Given the description of an element on the screen output the (x, y) to click on. 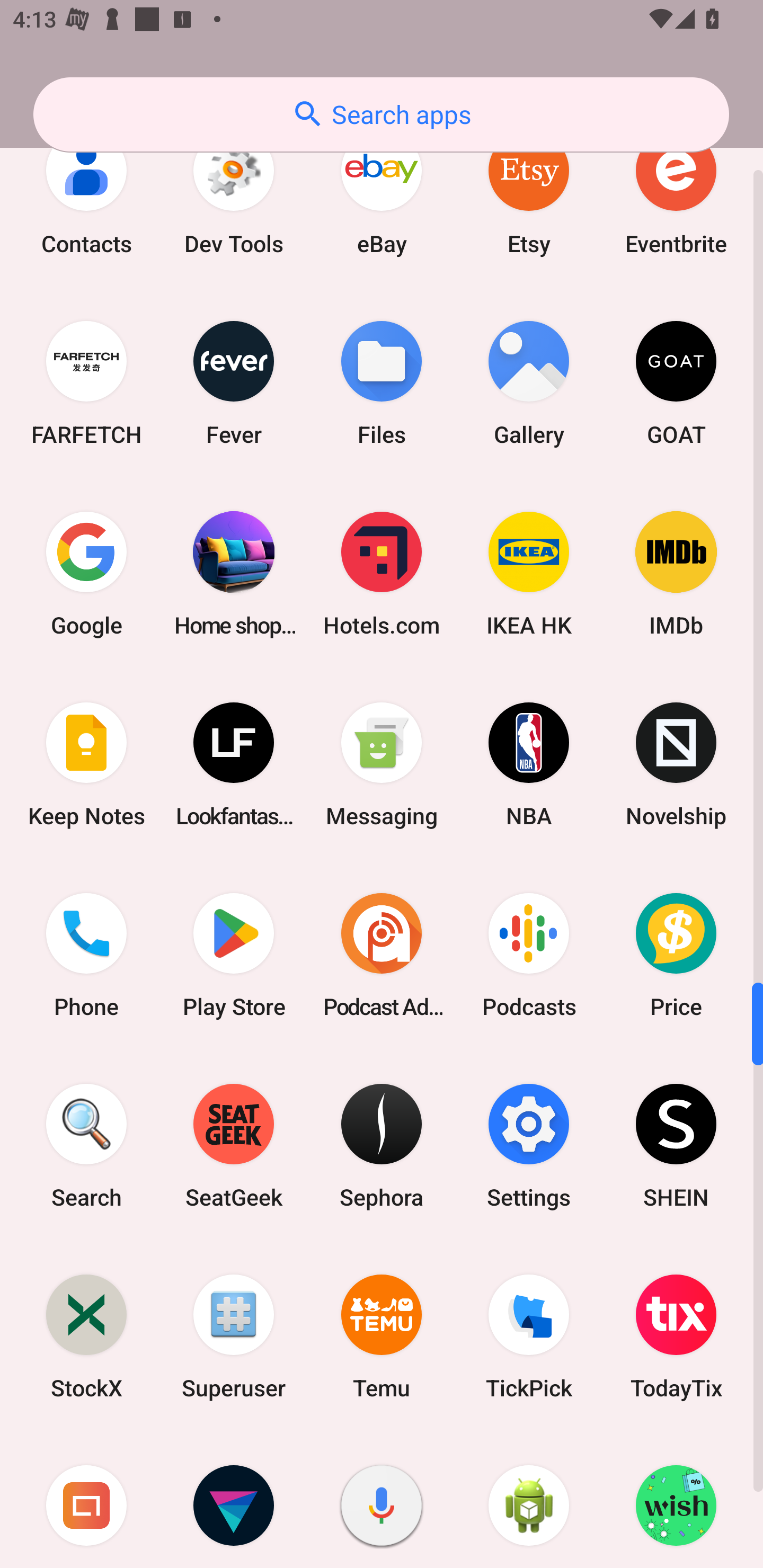
  Search apps (381, 114)
Contacts (86, 191)
Dev Tools (233, 191)
eBay (381, 191)
Etsy (528, 191)
Eventbrite (676, 191)
FARFETCH (86, 382)
Fever (233, 382)
Files (381, 382)
Gallery (528, 382)
GOAT (676, 382)
Google (86, 573)
Home shopping (233, 573)
Hotels.com (381, 573)
IKEA HK (528, 573)
IMDb (676, 573)
Keep Notes (86, 764)
Lookfantastic (233, 764)
Messaging (381, 764)
NBA (528, 764)
Novelship (676, 764)
Phone (86, 954)
Play Store (233, 954)
Podcast Addict (381, 954)
Podcasts (528, 954)
Price (676, 954)
Search (86, 1145)
SeatGeek (233, 1145)
Sephora (381, 1145)
Settings (528, 1145)
SHEIN (676, 1145)
StockX (86, 1336)
Superuser (233, 1336)
Temu (381, 1336)
TickPick (528, 1336)
TodayTix (676, 1336)
Urban Ladder (86, 1499)
Vivid Seats (233, 1499)
Voice Search (381, 1499)
WebView Browser Tester (528, 1499)
Wish (676, 1499)
